Given the description of an element on the screen output the (x, y) to click on. 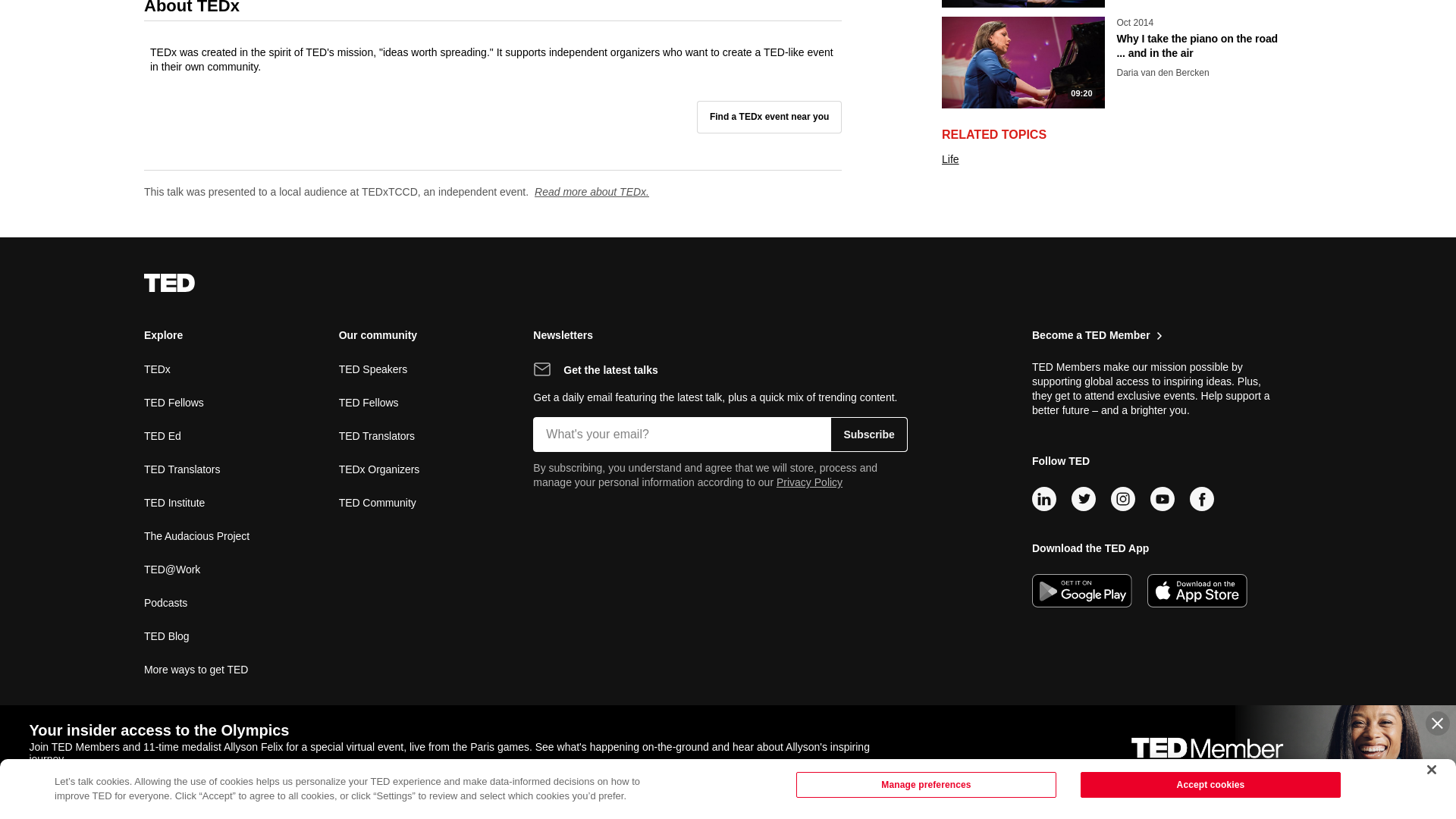
TEDx (157, 368)
The Audacious Project (196, 535)
TED Translators (181, 468)
Life (950, 4)
TED Fellows (173, 401)
TED Ed (162, 435)
TED Institute (174, 502)
Read more about TEDx. (591, 191)
Find a TEDx event near you (769, 116)
